Given the description of an element on the screen output the (x, y) to click on. 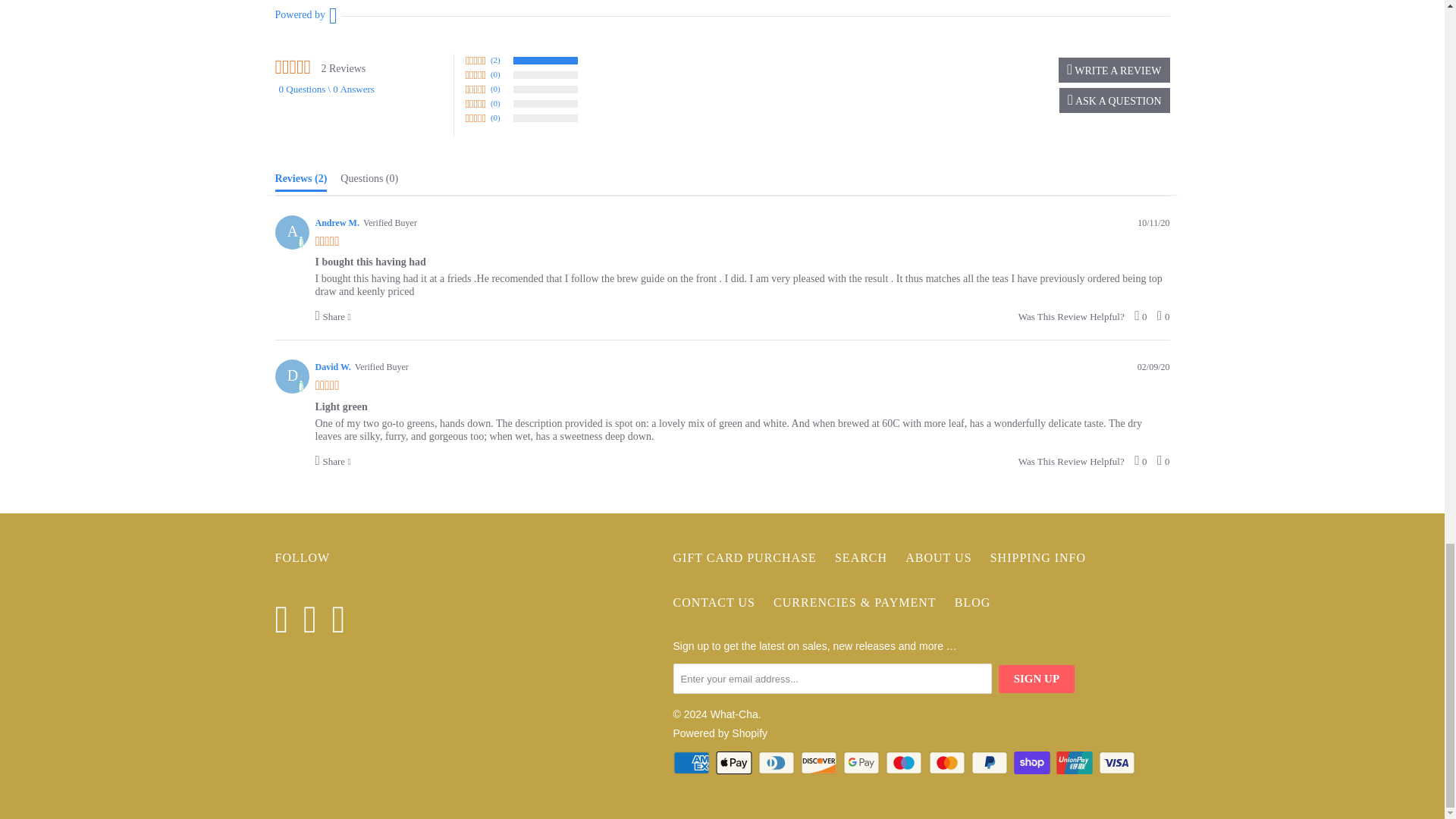
Sign Up (1036, 678)
